Given the description of an element on the screen output the (x, y) to click on. 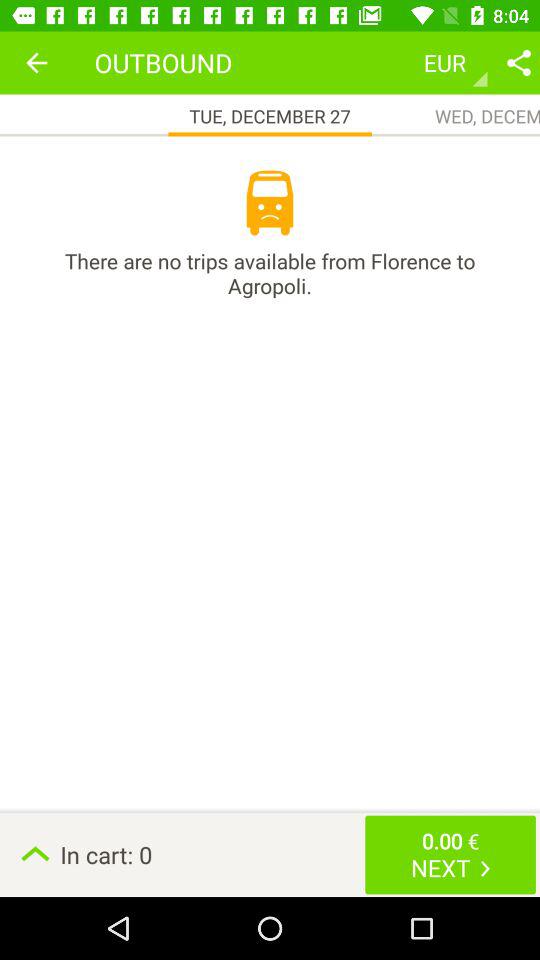
select there are no icon (269, 273)
